Given the description of an element on the screen output the (x, y) to click on. 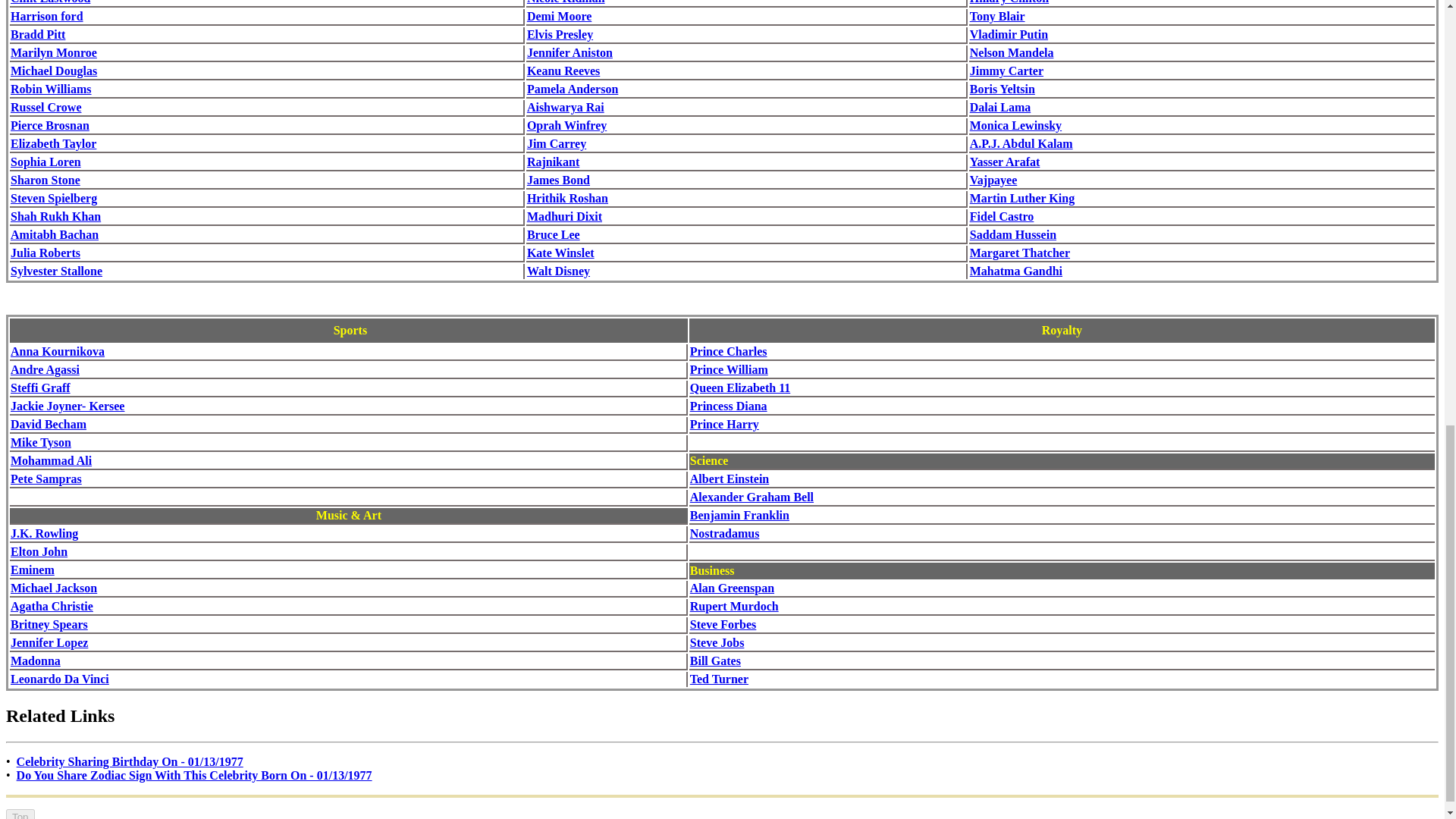
Harrison ford (46, 15)
Demi Moore (559, 15)
Clint Eastwood (50, 2)
Tony Blair (997, 15)
Nicole Kidman (566, 2)
Marilyn Monroe (53, 51)
Jennifer Aniston (569, 51)
Vladimir Putin (1008, 33)
Hillary Clinton (1008, 2)
Nelson Mandela (1011, 51)
Elvis Presley (559, 33)
Bradd Pitt (37, 33)
